Given the description of an element on the screen output the (x, y) to click on. 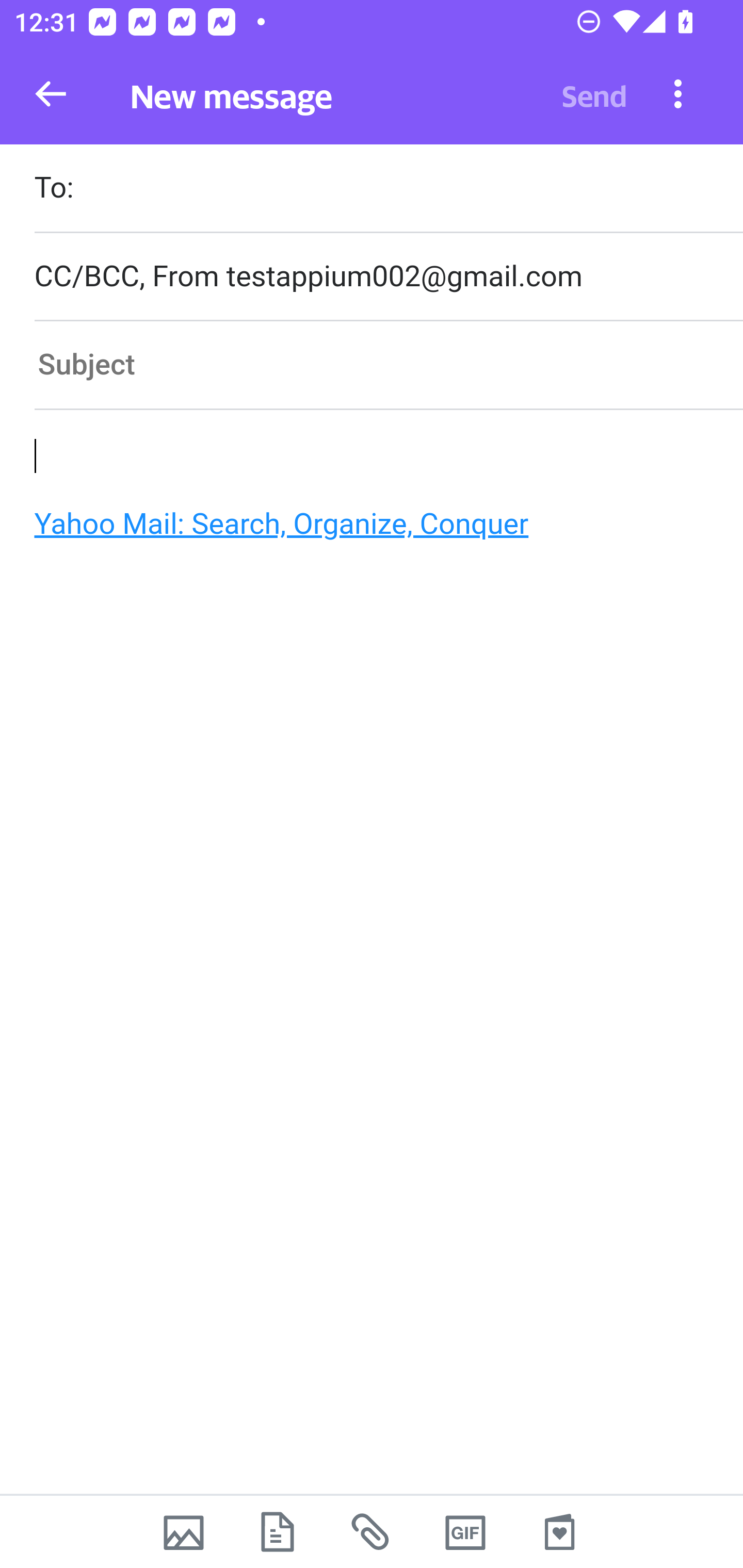
Back (50, 93)
Send (594, 93)
More options (677, 93)
To: (387, 189)
CC/BCC, From testappium002@gmail.com (387, 276)


Yahoo Mail: Search, Organize, Conquer (363, 528)
Camera photos (183, 1531)
Device files (277, 1531)
Recent attachments from mail (371, 1531)
GIFs (465, 1531)
Stationery (559, 1531)
